Given the description of an element on the screen output the (x, y) to click on. 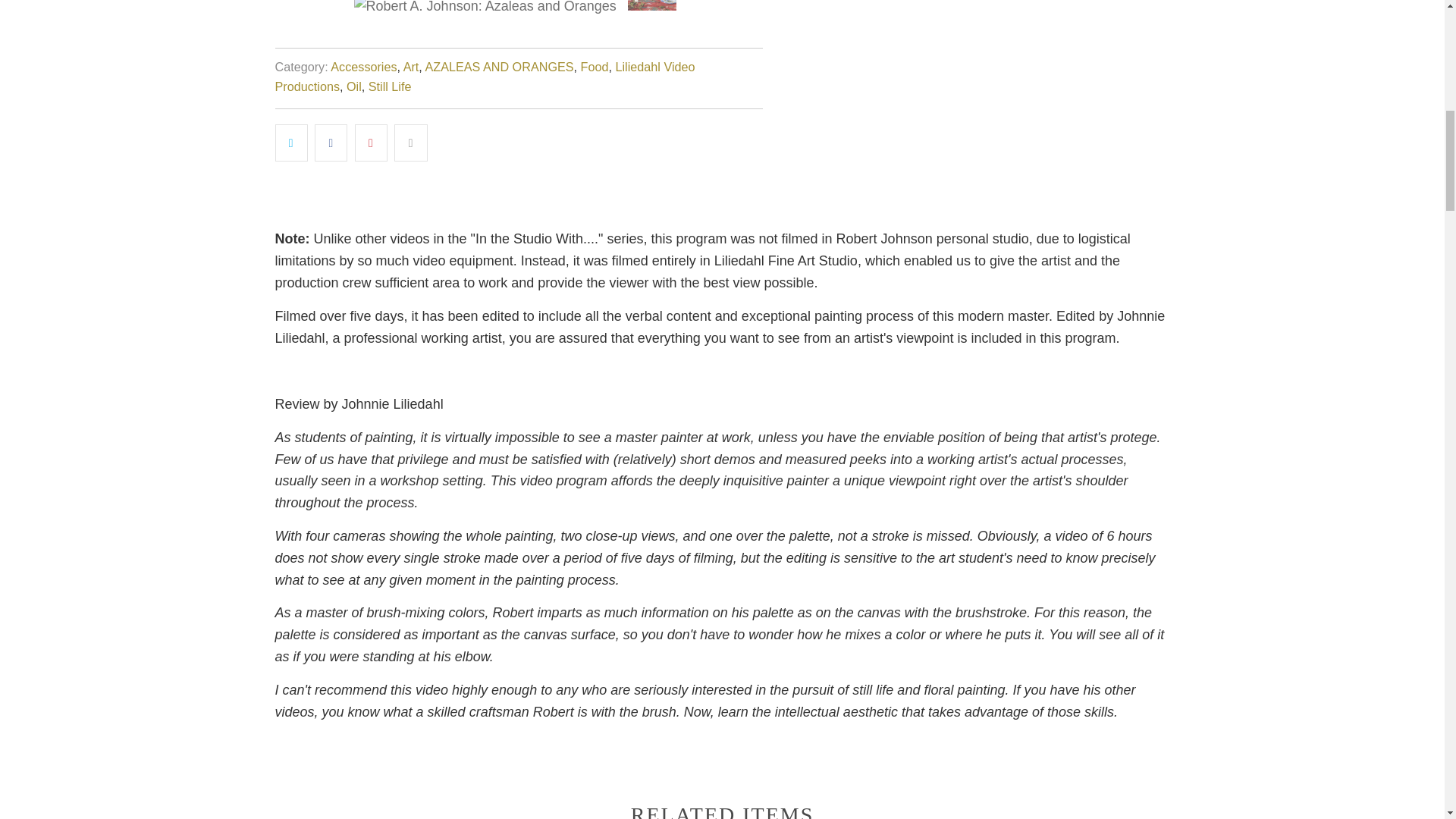
Products tagged Accessories (363, 66)
Products tagged Food (594, 66)
Products tagged Oil (353, 86)
Products tagged AZALEAS AND ORANGES (499, 66)
Products tagged Still Life (390, 86)
Products tagged Art (411, 66)
Products tagged Liliedahl Video Productions (484, 76)
